Given the description of an element on the screen output the (x, y) to click on. 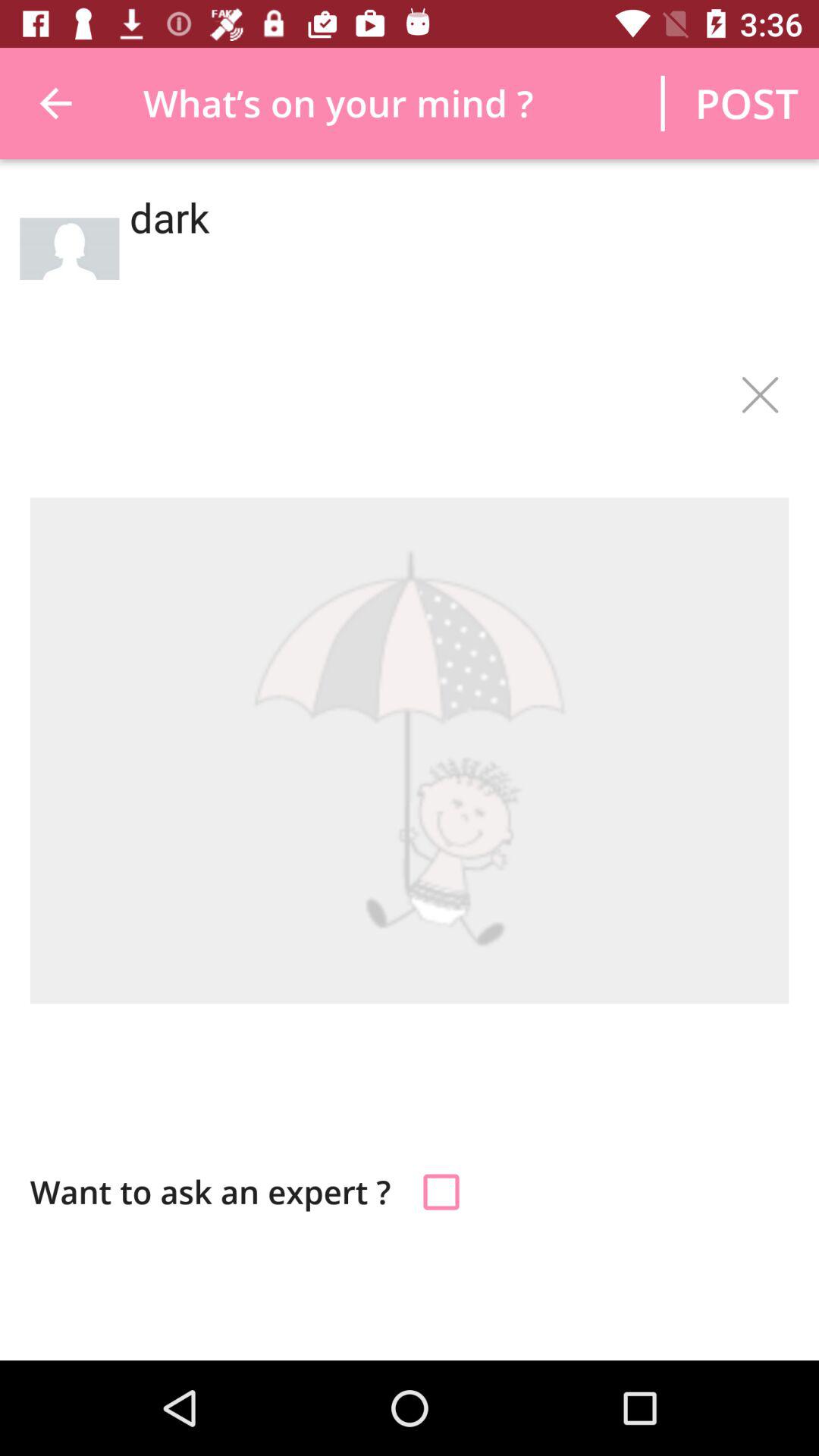
click the item to the left of what s on item (55, 103)
